Given the description of an element on the screen output the (x, y) to click on. 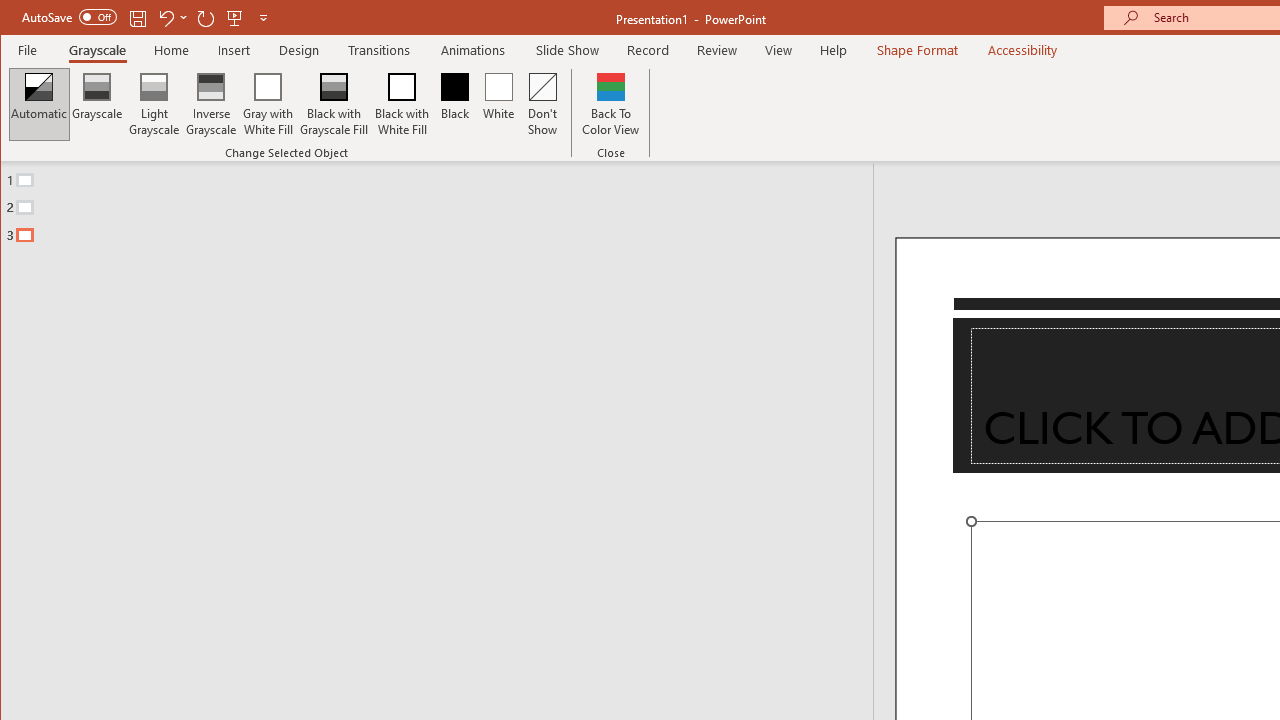
Light Grayscale (153, 104)
Grayscale (97, 104)
White (498, 104)
Inverse Grayscale (211, 104)
Black with Grayscale Fill (334, 104)
Gray with White Fill (267, 104)
